Given the description of an element on the screen output the (x, y) to click on. 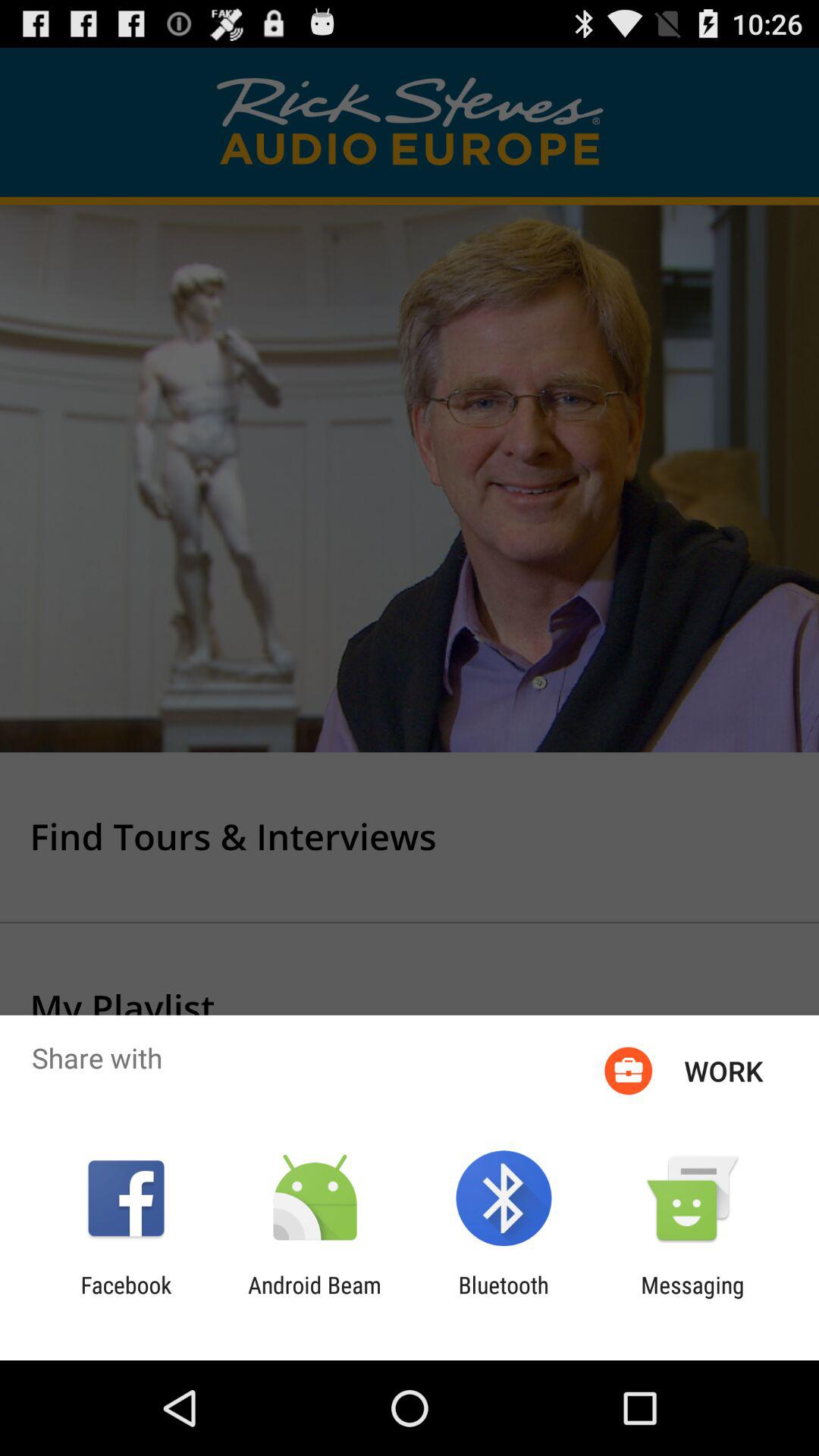
choose app next to the messaging icon (503, 1298)
